Given the description of an element on the screen output the (x, y) to click on. 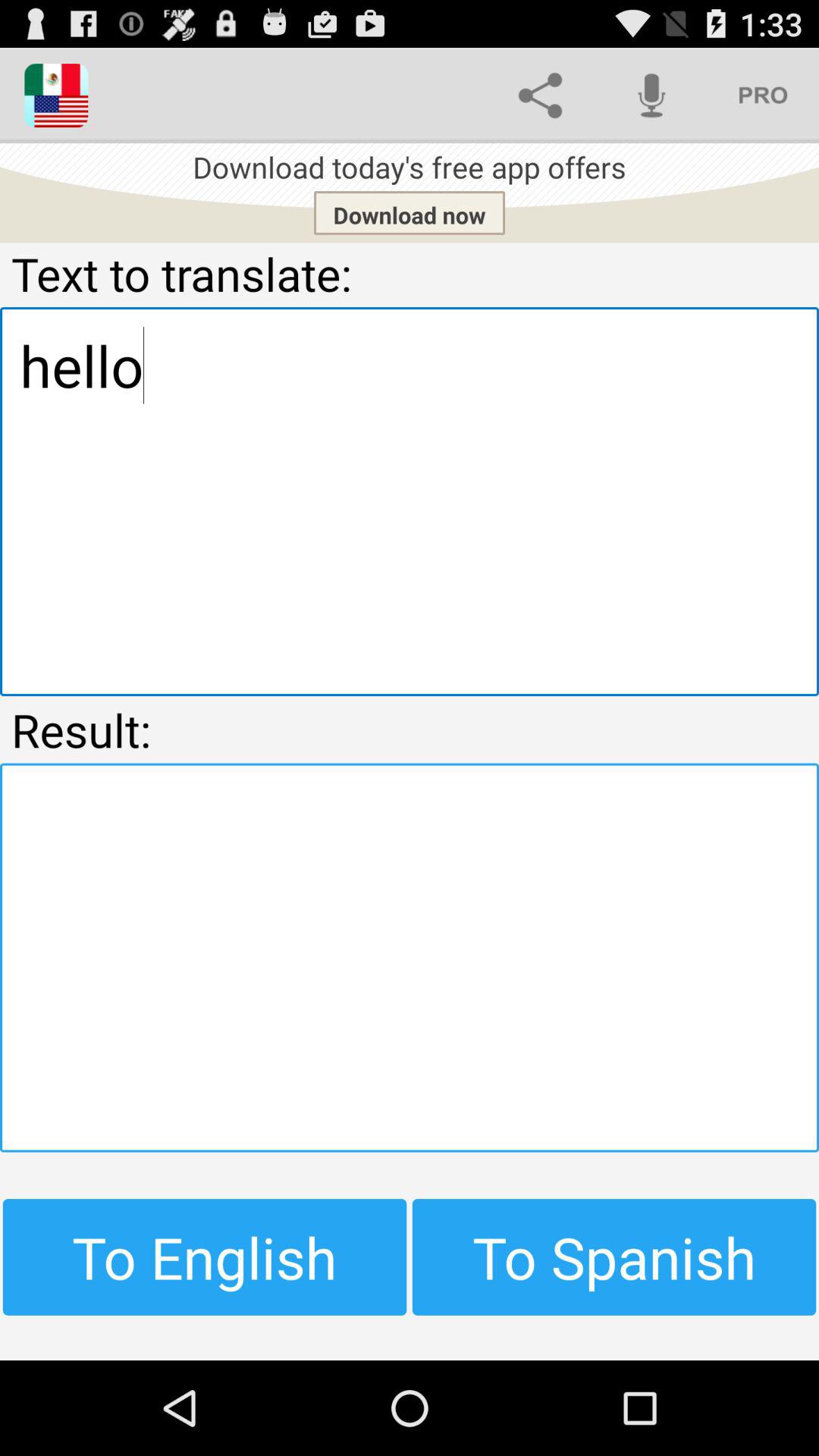
text area (409, 957)
